Given the description of an element on the screen output the (x, y) to click on. 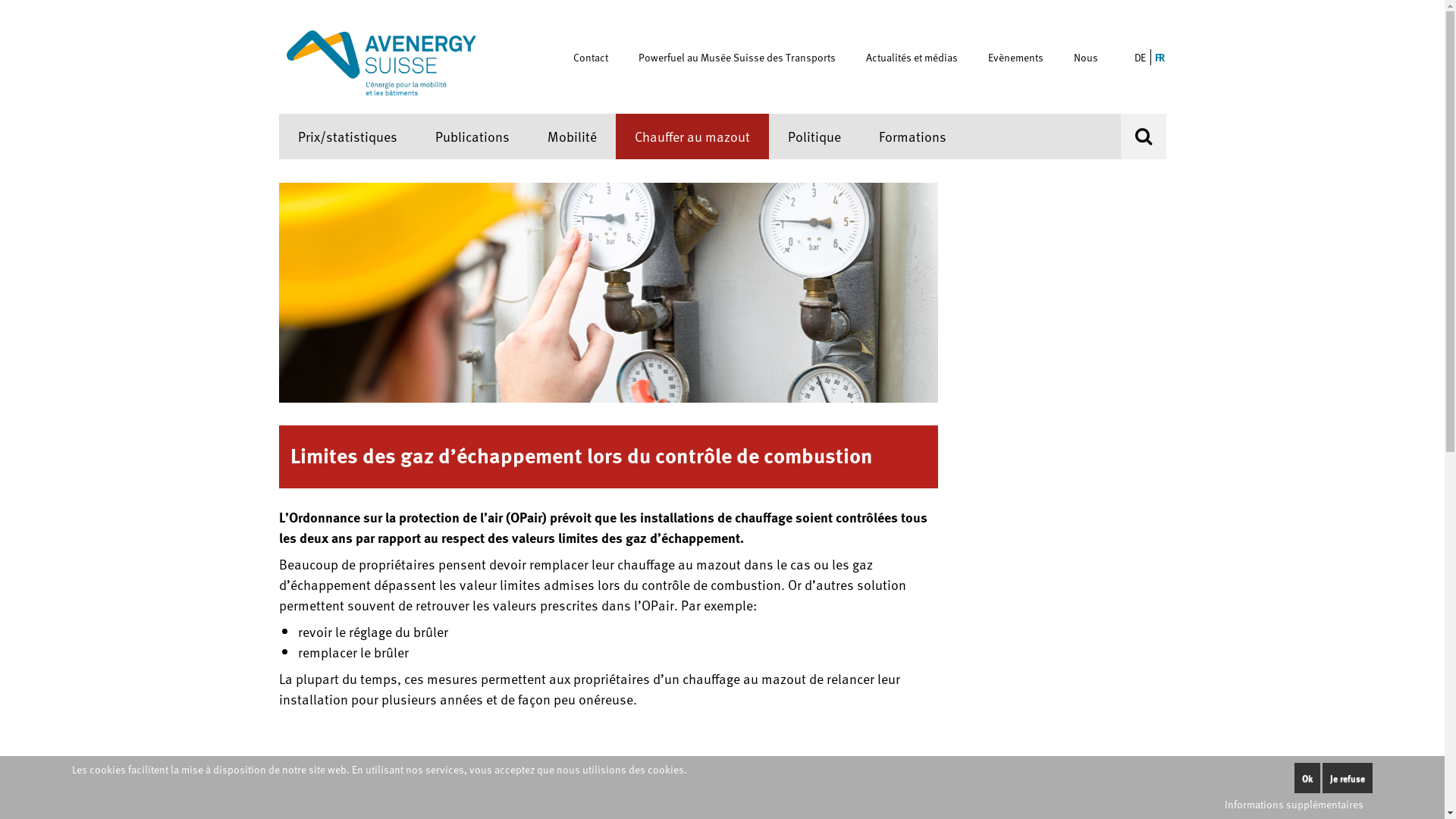
Formations Element type: text (912, 136)
DE Element type: text (1137, 56)
Publications Element type: text (471, 136)
Je refuse Element type: text (1347, 777)
FR Element type: text (1158, 56)
Nous Element type: text (1093, 57)
Politique Element type: text (813, 136)
Chauffer au mazout Element type: text (691, 136)
Prix/statistiques Element type: text (347, 136)
Contact Element type: text (598, 57)
Ok Element type: text (1307, 777)
